Given the description of an element on the screen output the (x, y) to click on. 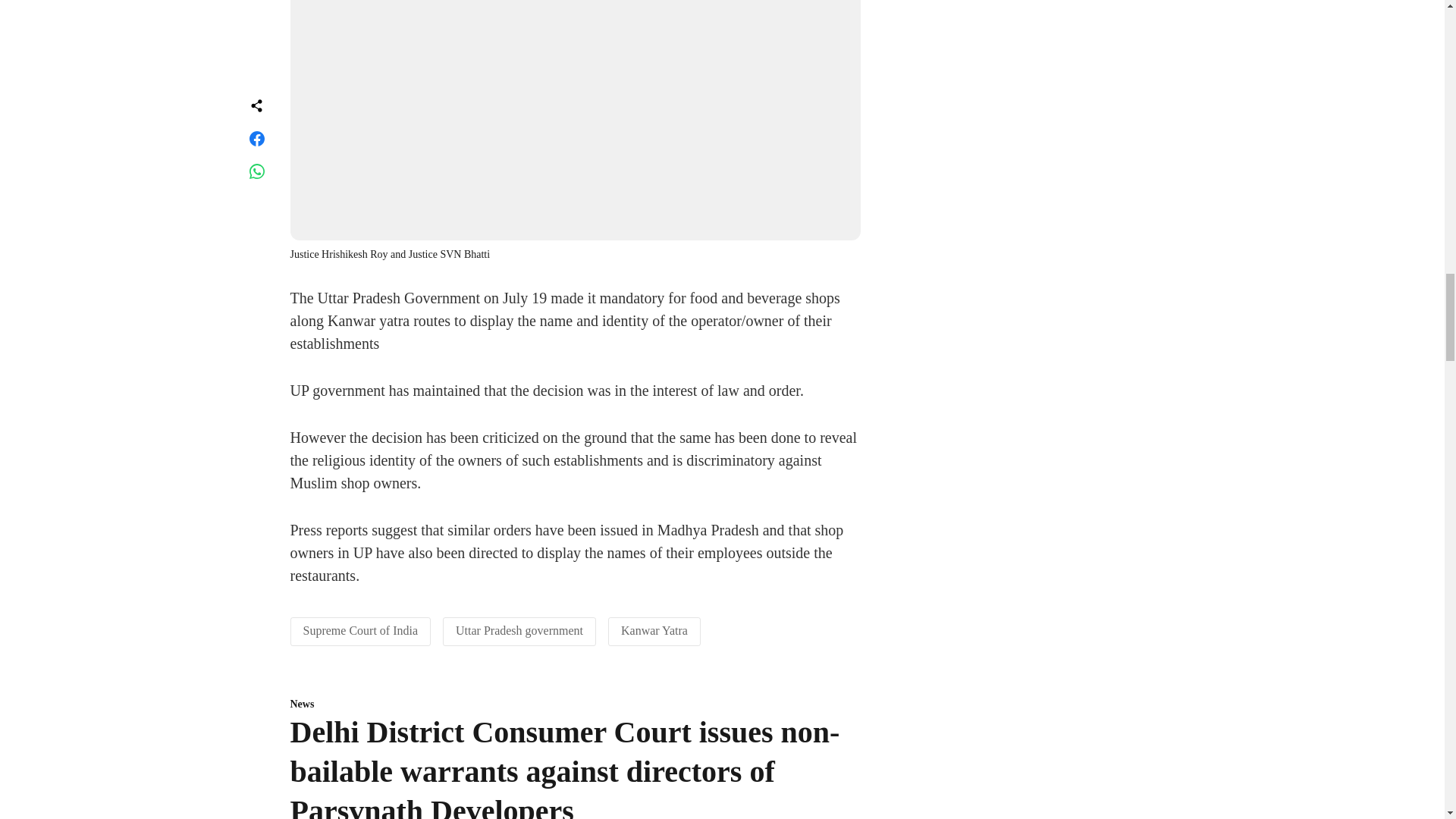
Supreme Court of India (360, 630)
Uttar Pradesh government (519, 630)
Kanwar Yatra (654, 630)
